Given the description of an element on the screen output the (x, y) to click on. 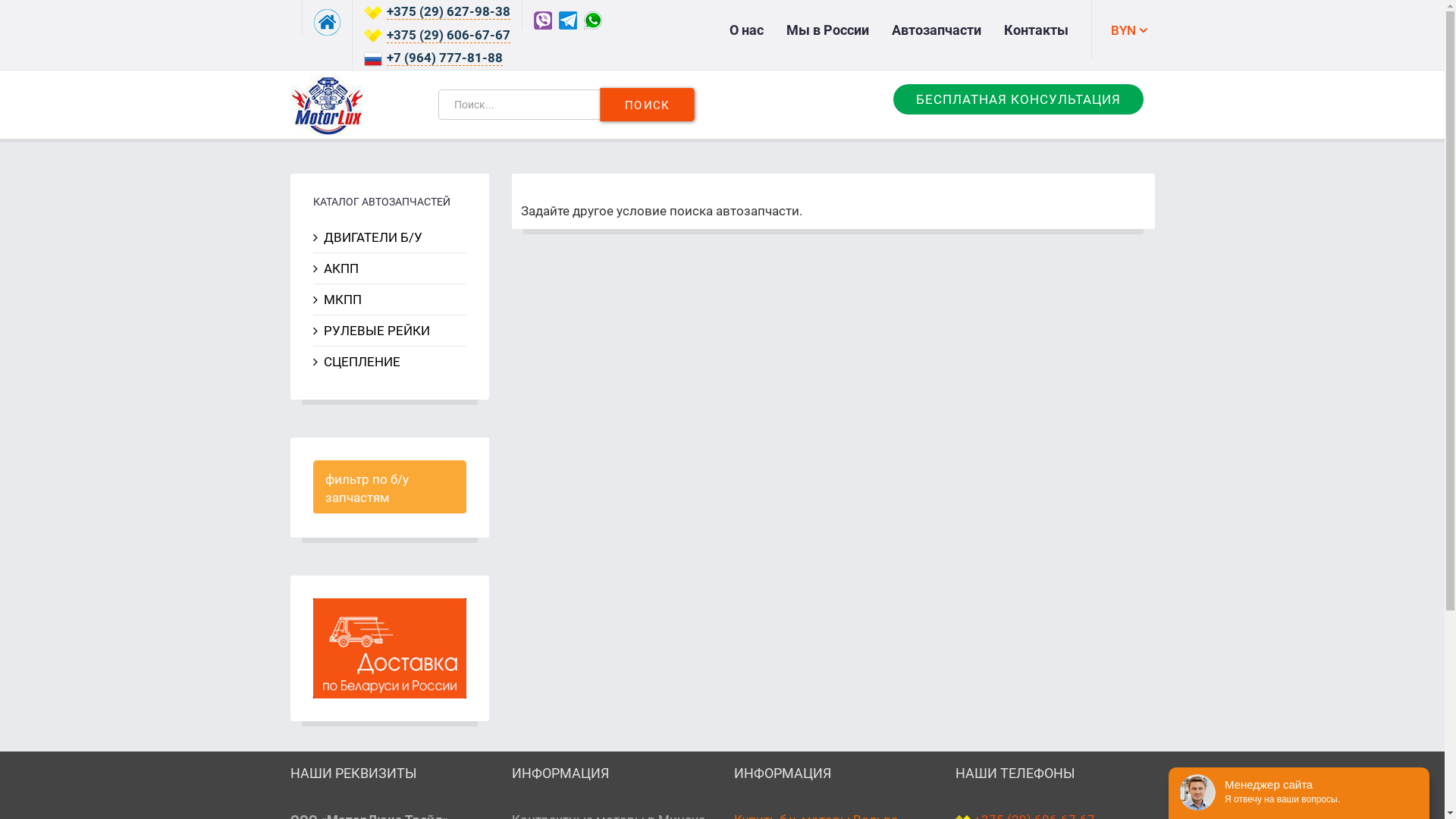
+375 (29) 606-67-67 Element type: text (448, 35)
d0a0d183d0bbd0b5d0b2d18bd0b520d180d0b5d0b9d0bad0b8 Element type: text (329, 647)
d09cd0bed182d0bed180d18b Element type: text (329, 591)
d09cd09ad09fd09f Element type: text (329, 610)
+375 (29) 627-98-38 Element type: text (448, 11)
d0a1d186d0b5d0bfd0bbd0b5d0bdd0b8d0b5 Element type: text (329, 666)
+7 (964) 777-81-88 Element type: text (444, 57)
d090d09ad09fd09f Element type: text (329, 628)
